Given the description of an element on the screen output the (x, y) to click on. 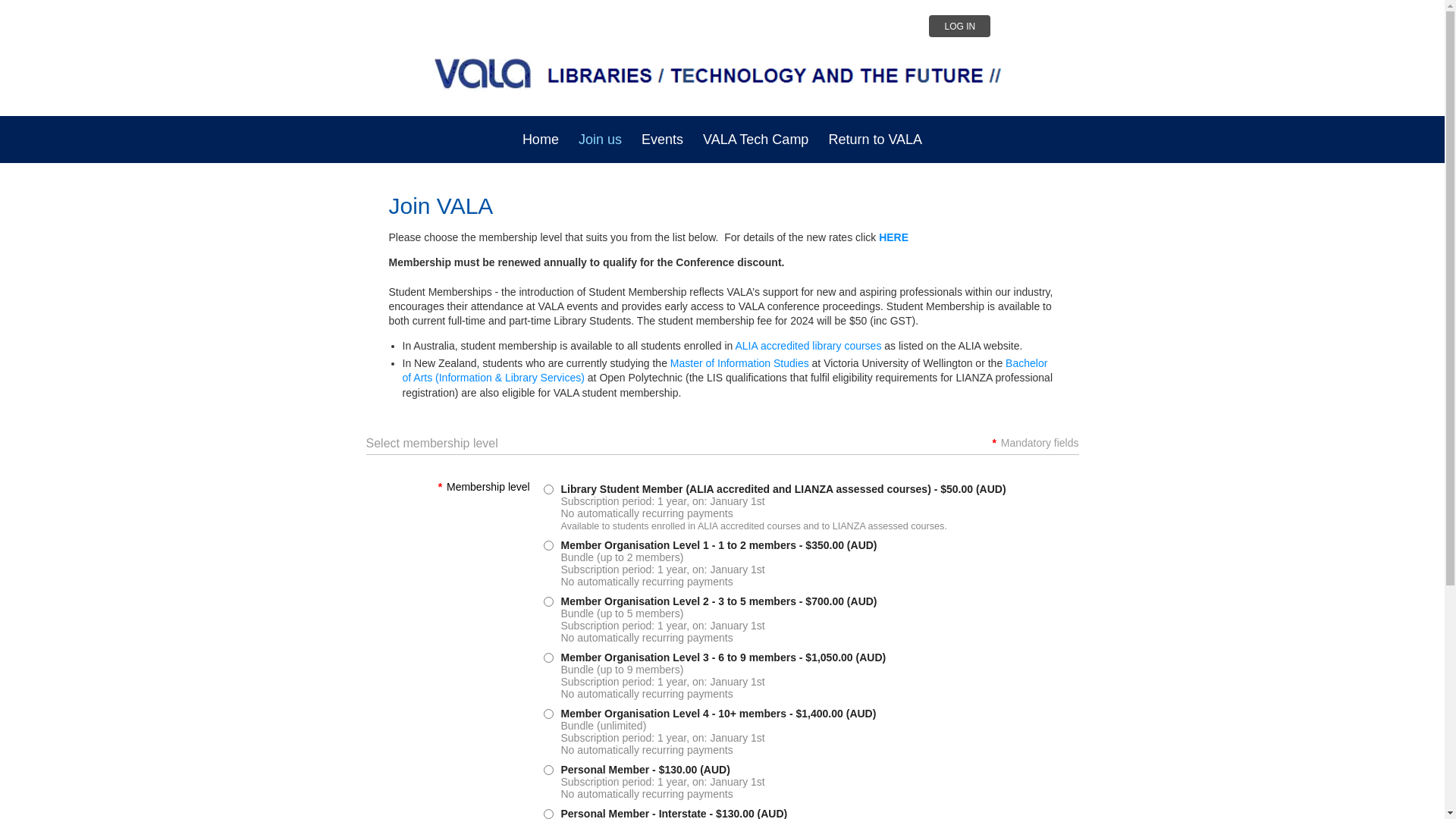
Home Element type: text (540, 139)
LOG IN Element type: text (959, 26)
Bachelor of Arts (Information & Library Services) Element type: text (724, 370)
Events Element type: text (662, 139)
ALIA accredited library courses Element type: text (807, 345)
Join us Element type: text (599, 139)
Master of Information Studies Element type: text (739, 363)
VALA Tech Camp Element type: text (755, 139)
HERE Element type: text (893, 237)
Return to VALA Element type: text (874, 139)
